Given the description of an element on the screen output the (x, y) to click on. 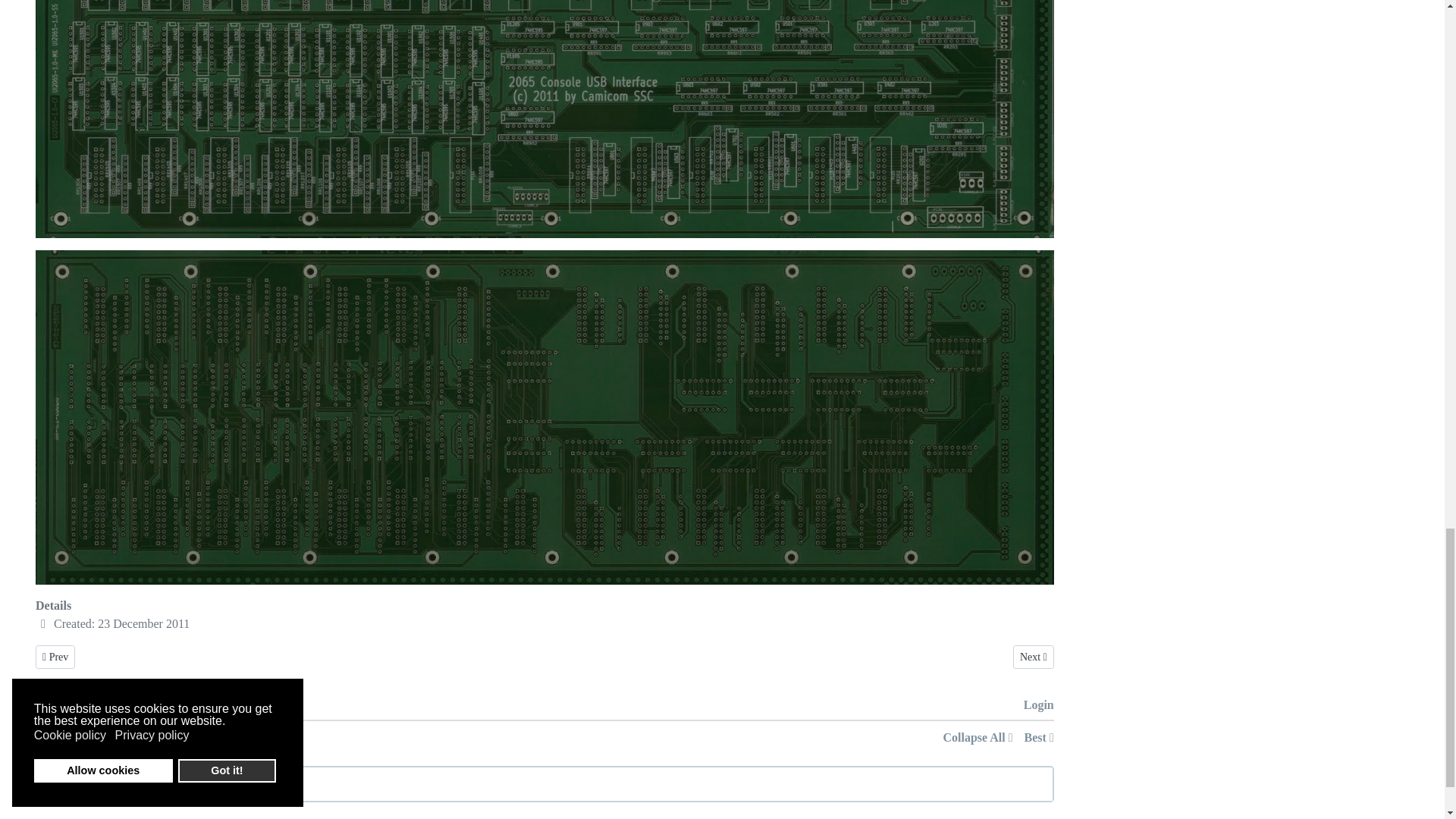
Login (1038, 704)
Comment (60, 704)
Best (1039, 737)
Collapse All (1033, 657)
RSS (978, 737)
Subscribe (109, 704)
